Given the description of an element on the screen output the (x, y) to click on. 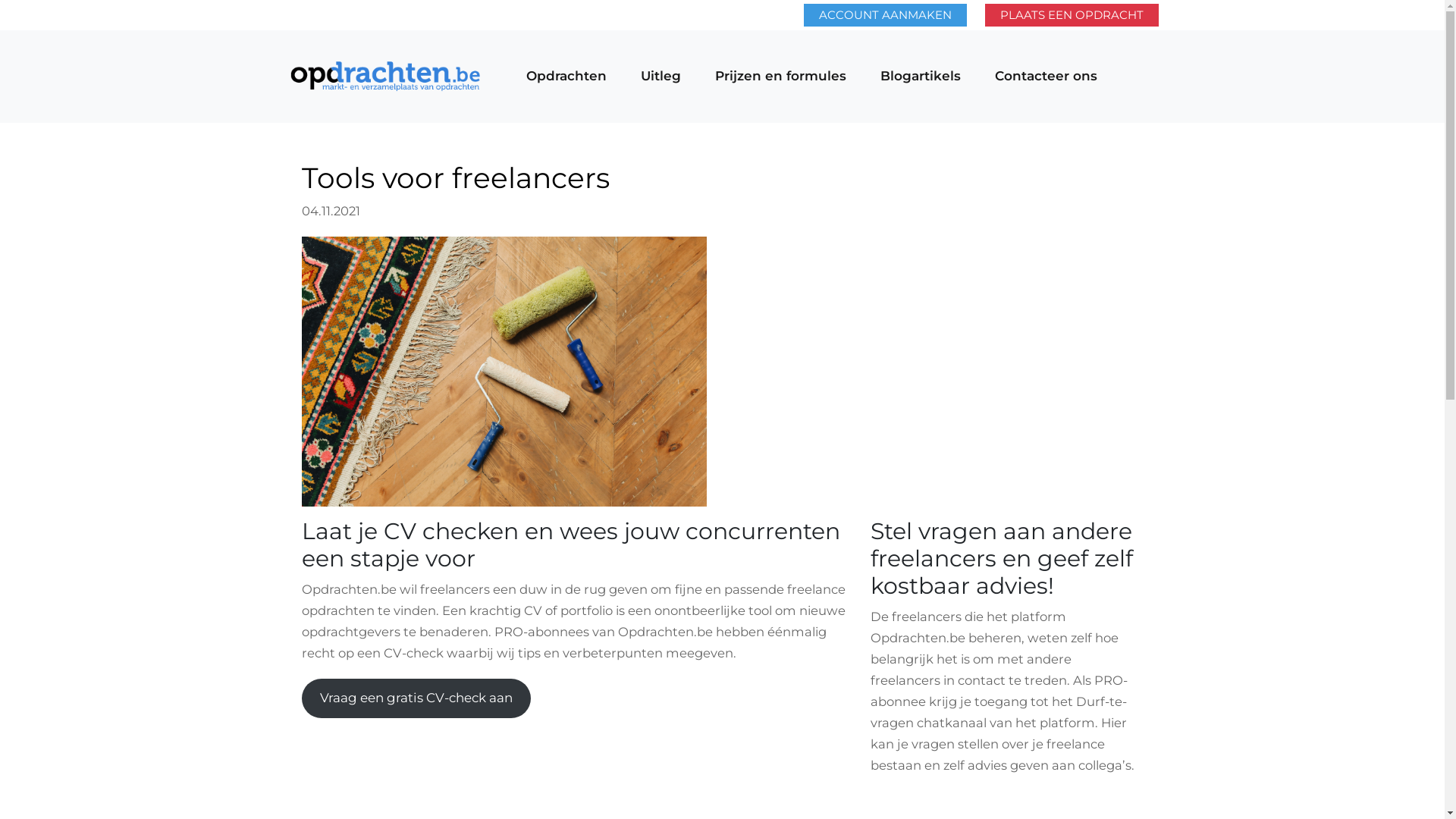
Contacteer ons Element type: text (1045, 76)
Vraag een gratis CV-check aan Element type: text (416, 698)
Blogartikels Element type: text (920, 76)
Opdrachten Element type: text (565, 76)
Prijzen en formules Element type: text (780, 76)
PLAATS EEN OPDRACHT Element type: text (1071, 14)
Uitleg Element type: text (660, 76)
ACCOUNT AANMAKEN Element type: text (884, 14)
